Given the description of an element on the screen output the (x, y) to click on. 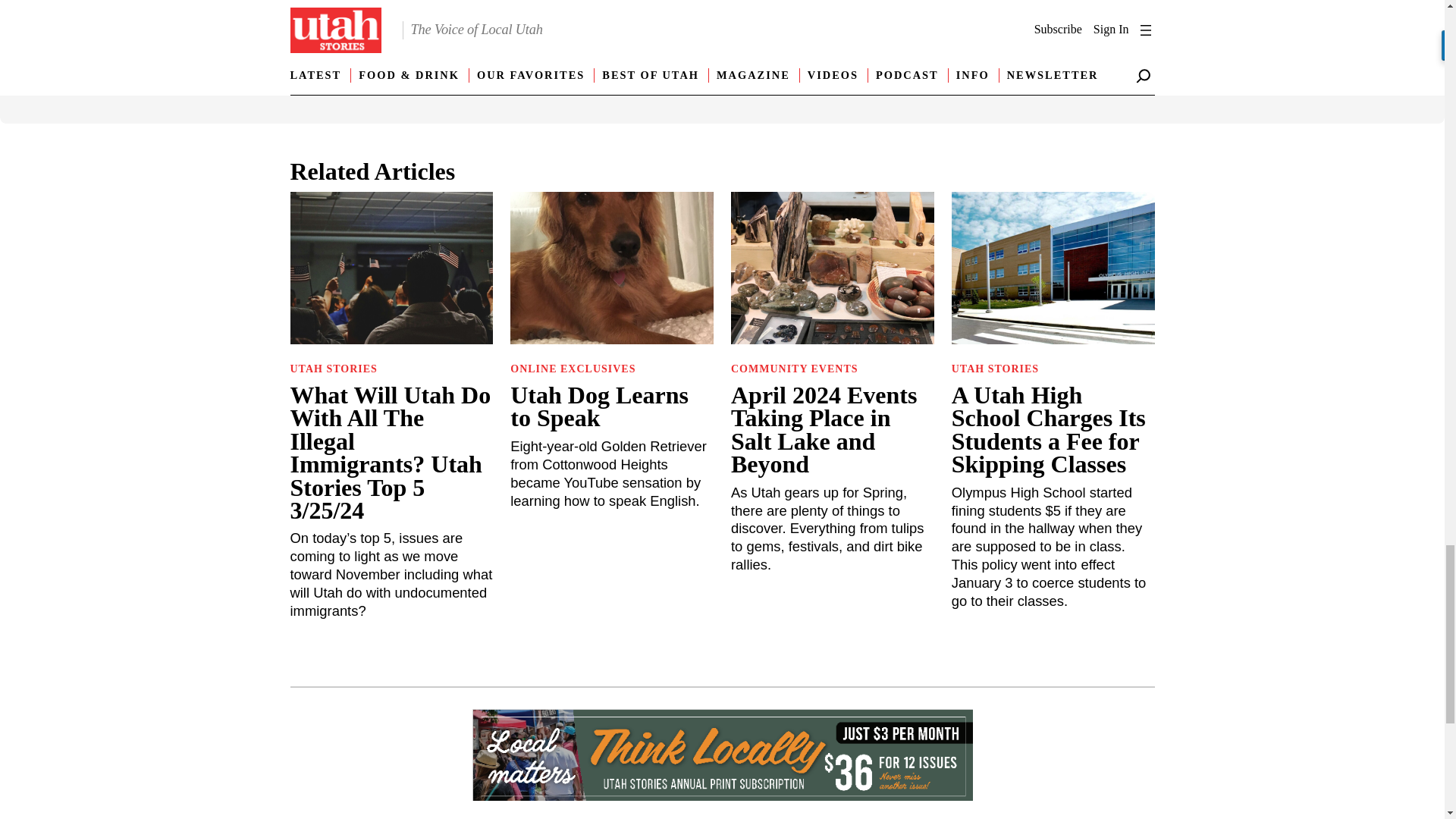
Subscription banner ad (721, 757)
